Given the description of an element on the screen output the (x, y) to click on. 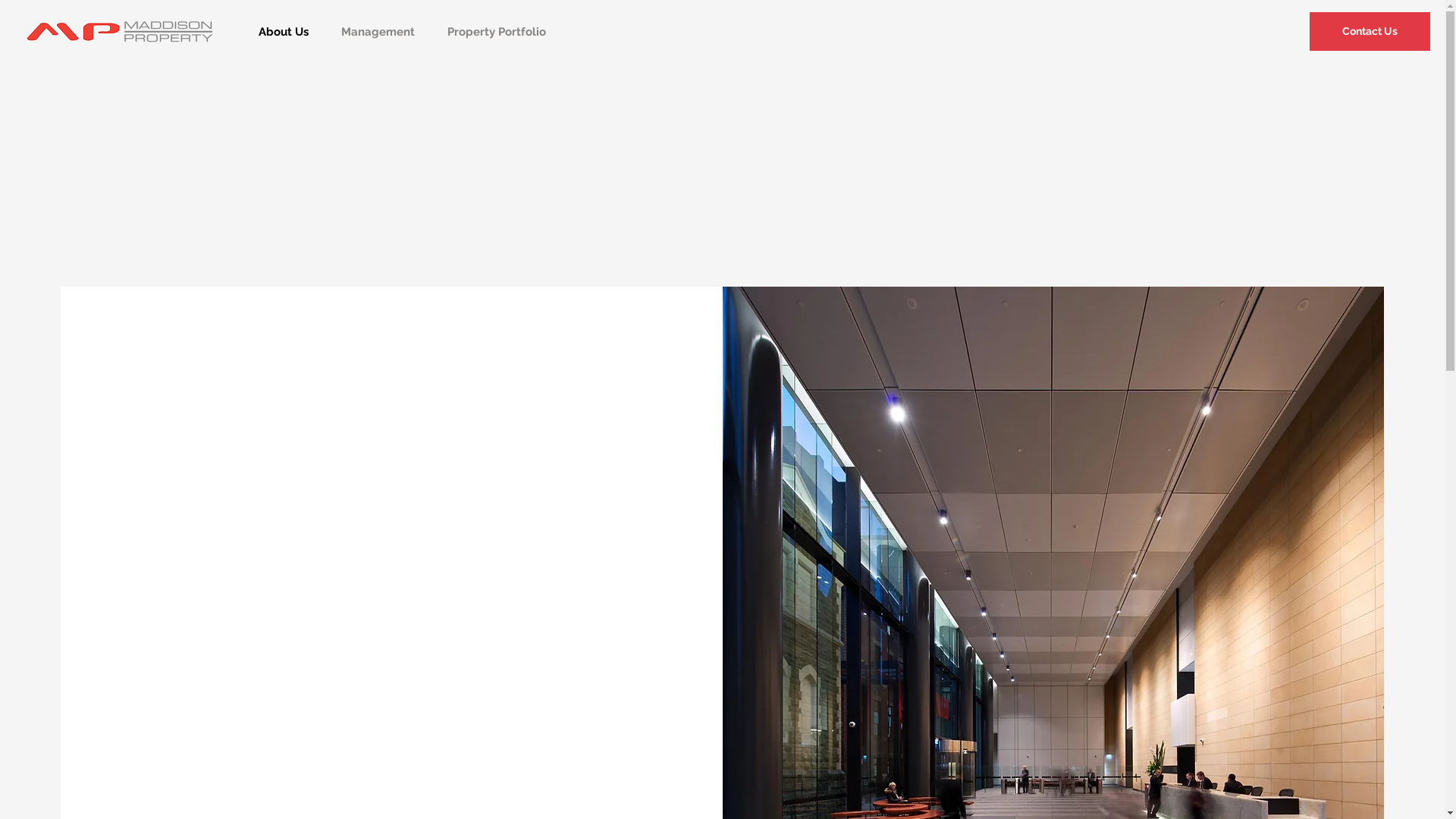
Contact Us Element type: text (1369, 31)
Property Portfolio Element type: text (495, 31)
About Us Element type: text (282, 31)
Management Element type: text (377, 31)
